Given the description of an element on the screen output the (x, y) to click on. 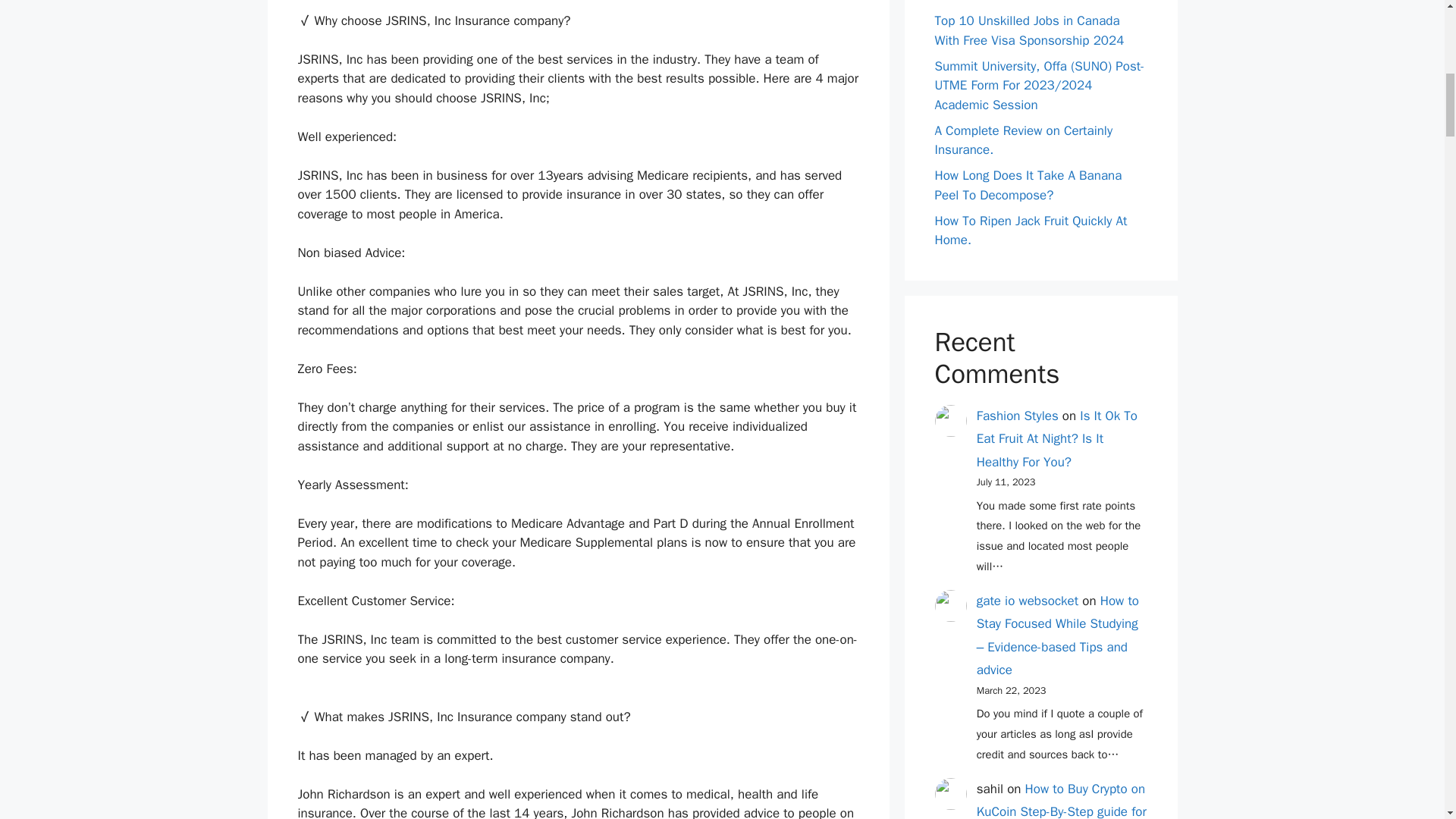
Fashion Styles (1017, 415)
How Long Does It Take A Banana Peel To Decompose? (1027, 185)
How to Buy Crypto on KuCoin Step-By-Step guide for new users (1061, 800)
Is It Ok To Eat Fruit At Night? Is It Healthy For You? (1056, 438)
A Complete Review on Certainly Insurance. (1023, 140)
gate io websocket (1027, 600)
How To Ripen Jack Fruit Quickly At Home. (1030, 230)
